Given the description of an element on the screen output the (x, y) to click on. 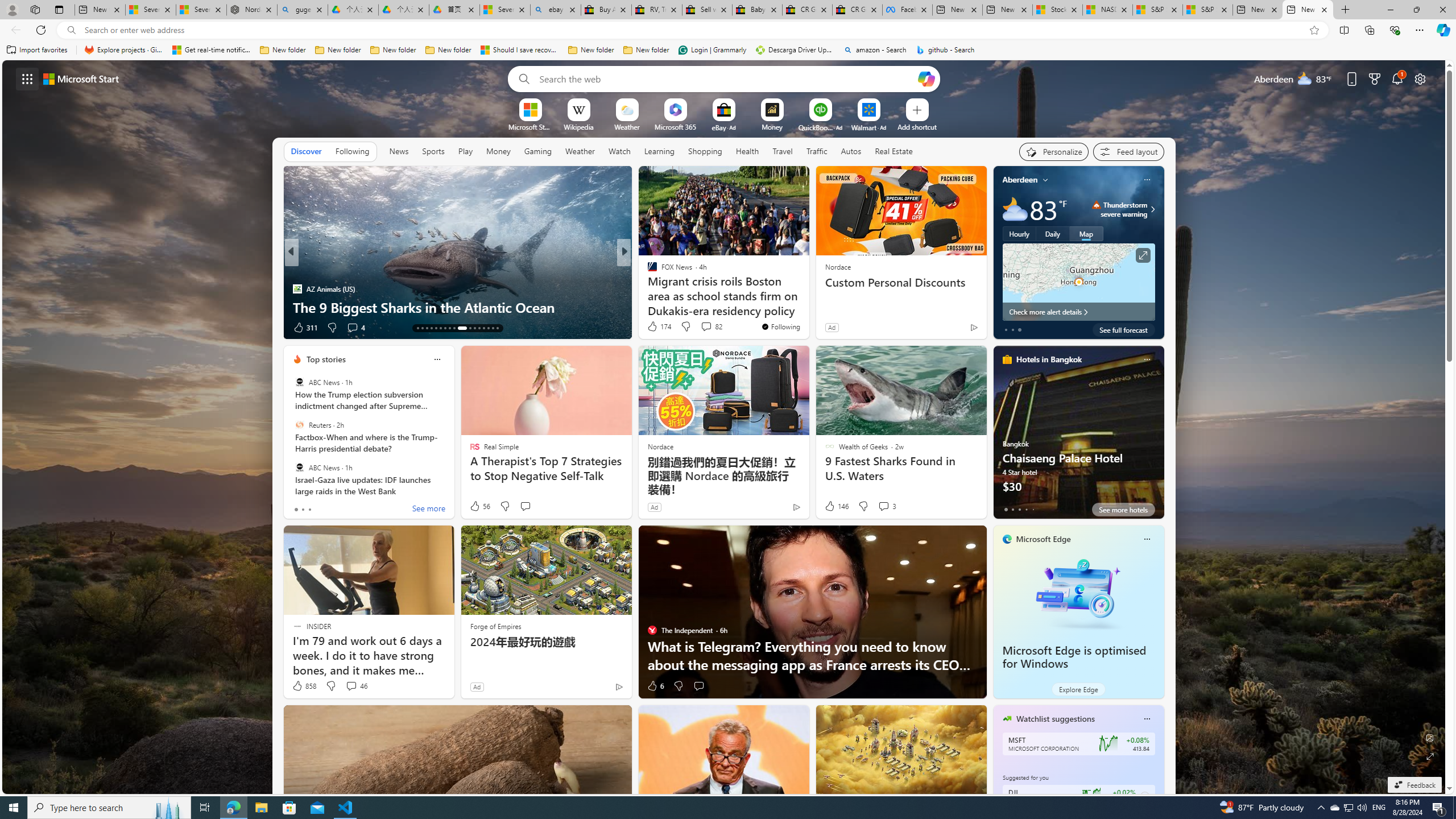
AutomationID: tab-26 (483, 328)
ABC News (299, 466)
Mostly cloudy (1014, 208)
Discover (306, 151)
Ad Choice (619, 686)
View comments 10 Comment (704, 327)
Login | Grammarly (712, 49)
AutomationID: tab-19 (444, 328)
Baby Keepsakes & Announcements for sale | eBay (757, 9)
guge yunpan - Search (302, 9)
AutomationID: tab-20 (449, 328)
Health (746, 151)
